Given the description of an element on the screen output the (x, y) to click on. 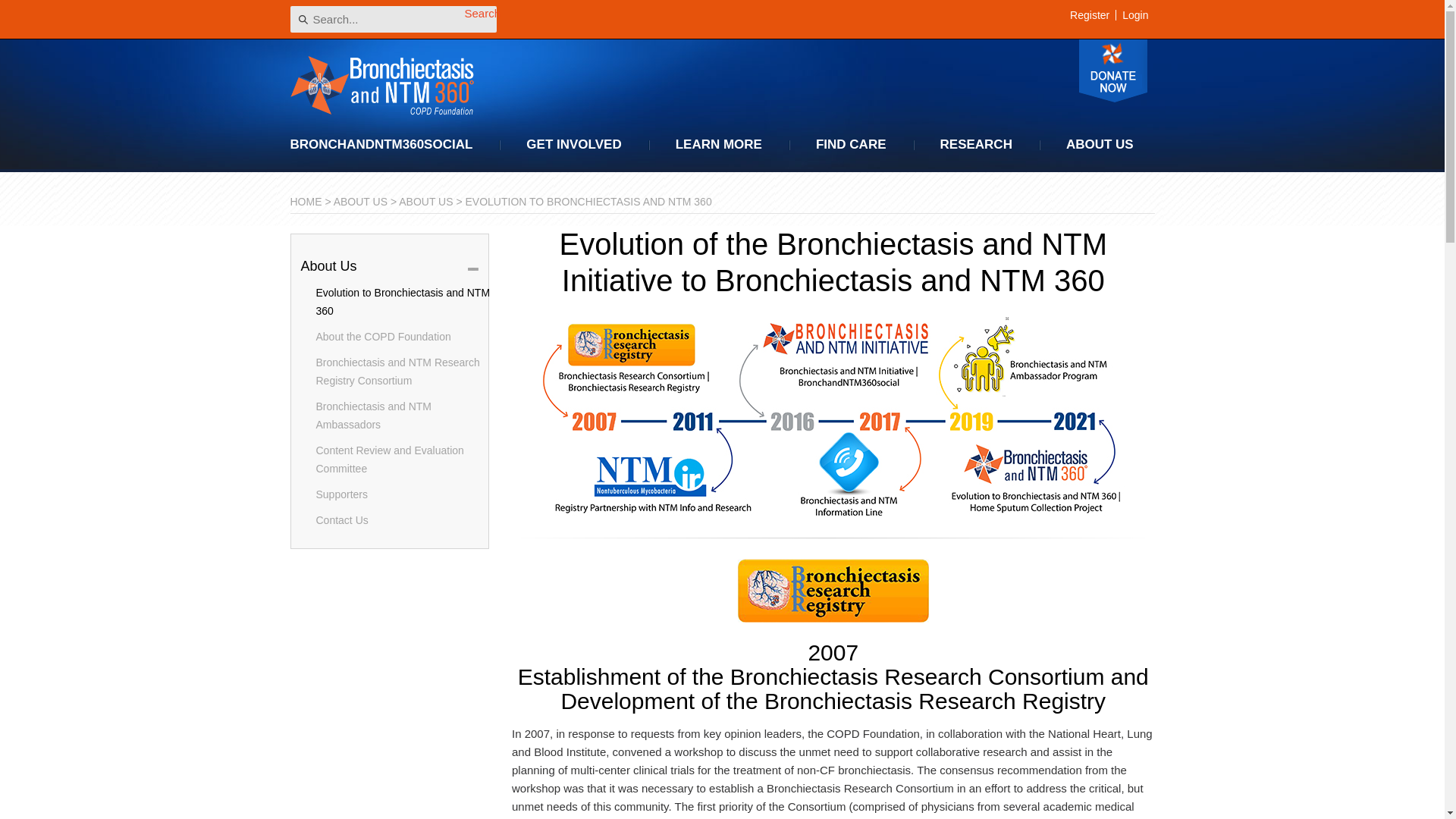
Login (1134, 14)
Clear search text (481, 17)
Search (479, 18)
Donate (1112, 70)
Register (1089, 14)
